Given the description of an element on the screen output the (x, y) to click on. 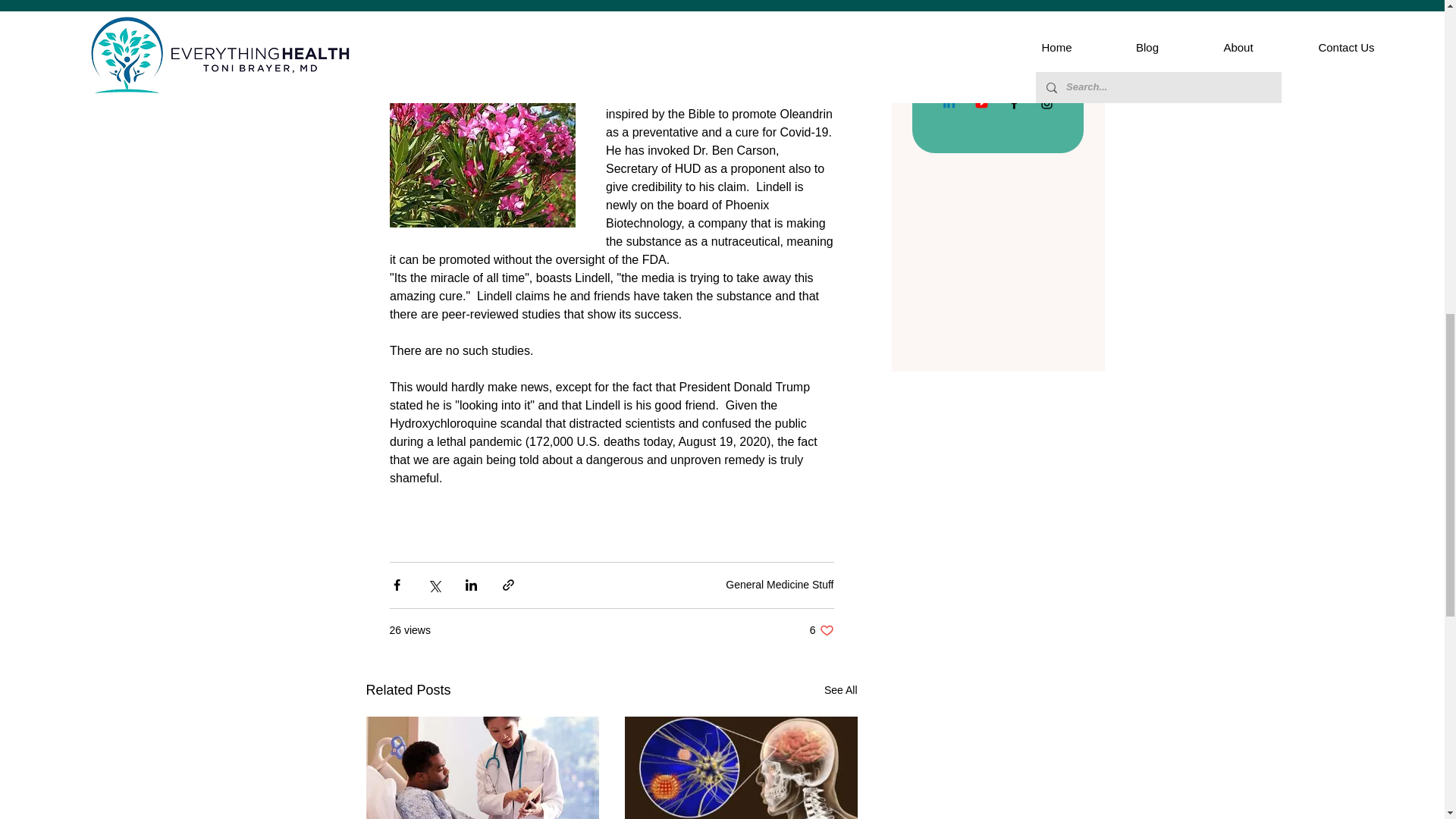
Nerium Oleander (435, 21)
See All (821, 630)
General Medicine Stuff (840, 690)
